Given the description of an element on the screen output the (x, y) to click on. 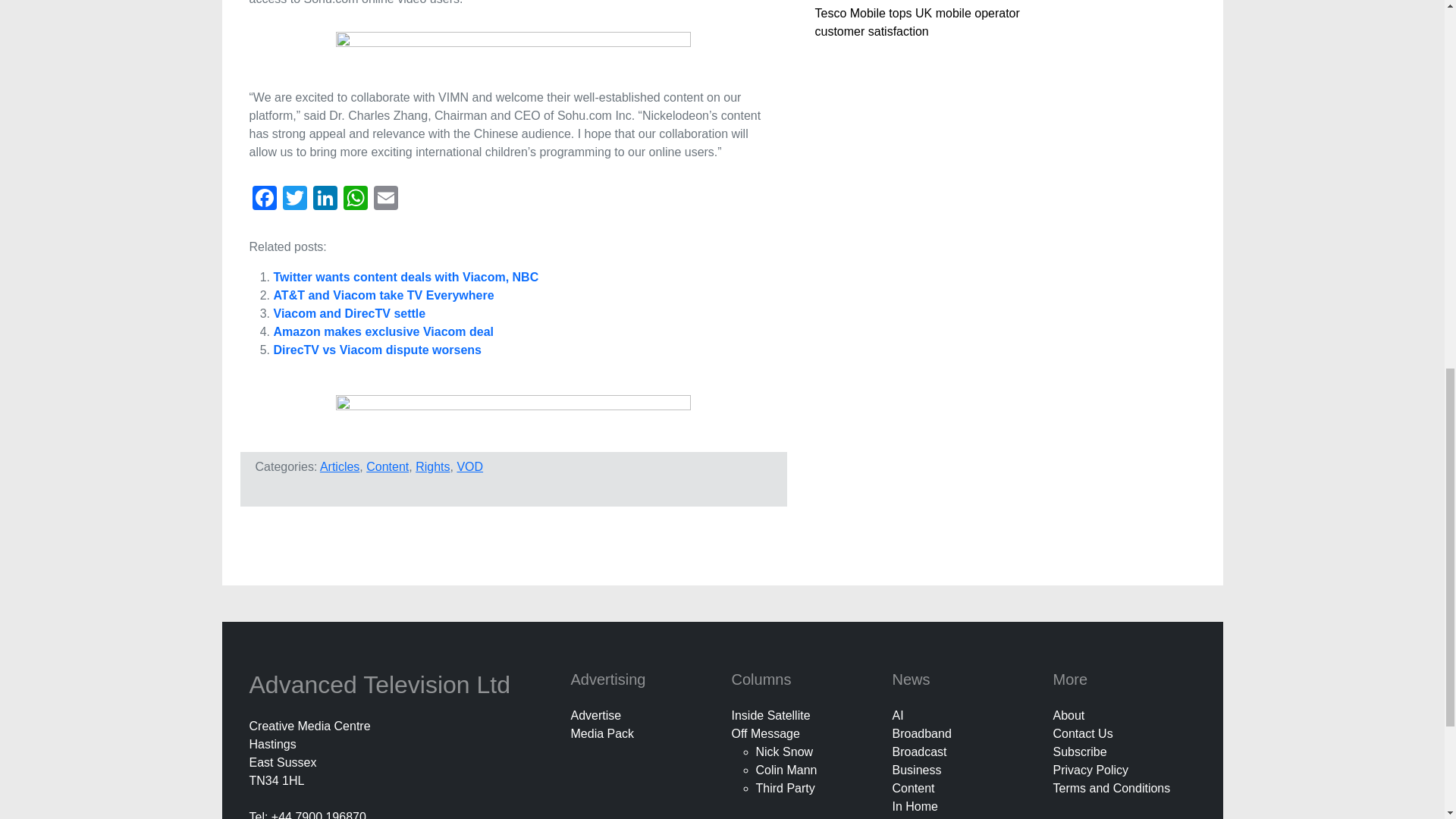
DirecTV vs Viacom dispute worsens (376, 349)
Content (387, 466)
Viacom and DirecTV settle (349, 313)
Rights (431, 466)
VOD (470, 466)
LinkedIn (323, 199)
WhatsApp (354, 199)
Facebook (263, 199)
DirecTV vs Viacom dispute worsens (376, 349)
Amazon makes exclusive Viacom deal (383, 331)
Twitter wants content deals with Viacom, NBC (405, 277)
Twitter (293, 199)
Twitter wants content deals with Viacom, NBC (405, 277)
Articles (339, 466)
Twitter (293, 199)
